Given the description of an element on the screen output the (x, y) to click on. 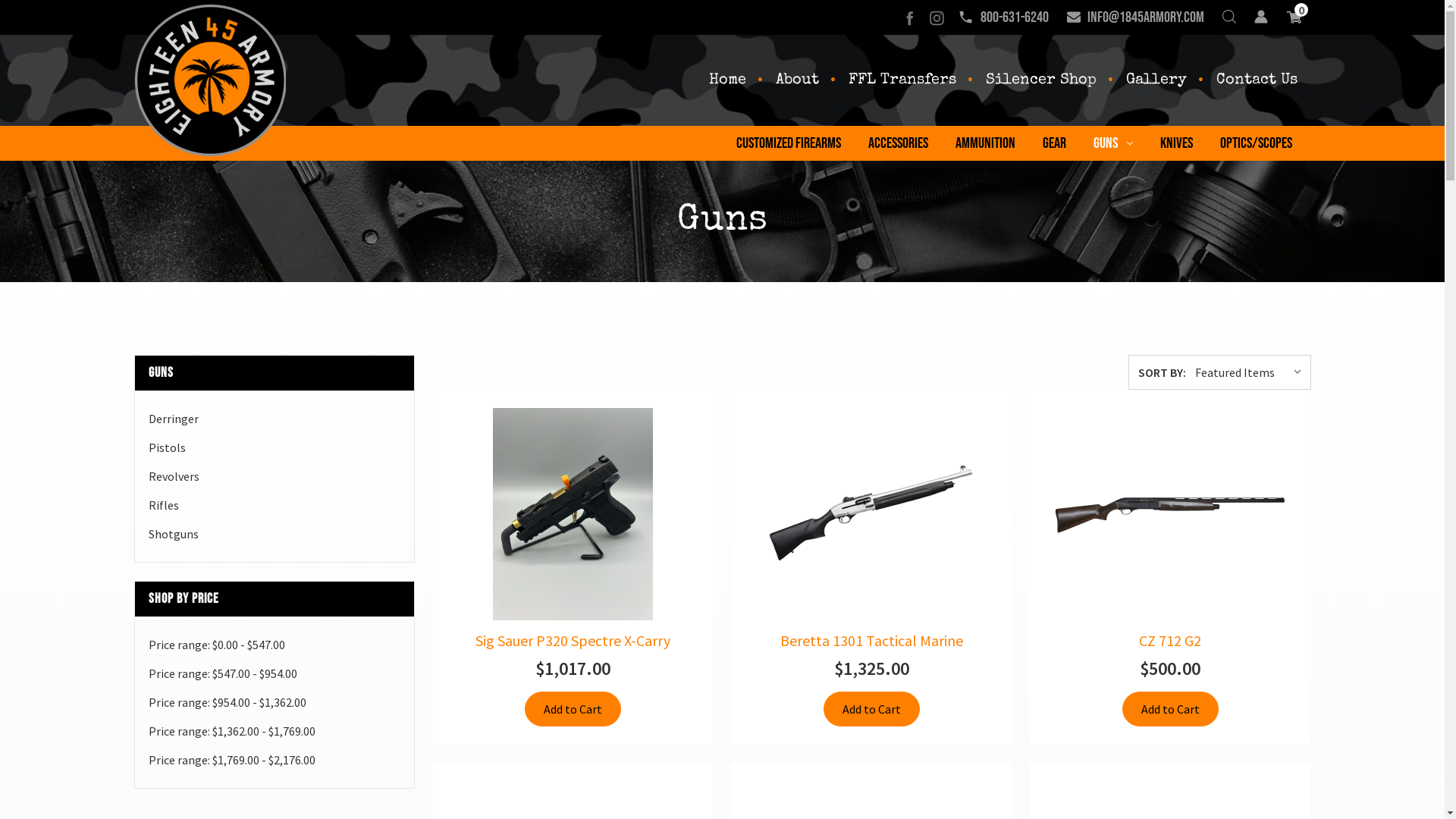
Price range: $0.00 - $547.00 Element type: text (274, 644)
OPTICS/SCOPES Element type: text (1255, 142)
Beretta 1301 Tactical Marine Element type: text (871, 640)
About Element type: text (796, 79)
Price range: $547.00 - $954.00 Element type: text (274, 672)
GEAR Element type: text (1053, 142)
AMMUNITION Element type: text (985, 142)
Sig Sauer P320 Spectre X-Carry Element type: hover (572, 513)
Follow Us On facebook Element type: text (908, 17)
Pistols Element type: text (274, 447)
Derringer Element type: text (274, 418)
800-631-6240 Element type: text (1002, 17)
FFL Transfers Element type: text (901, 79)
GUNS Element type: text (1112, 142)
Silencer Shop Element type: text (1041, 79)
Price range: $954.00 - $1,362.00 Element type: text (274, 701)
Follow Us On instagram Element type: text (936, 17)
Add to Cart Element type: text (572, 708)
Sig Sauer P320 Spectre X-Carry Element type: text (572, 640)
Home Element type: text (726, 79)
Price range: $1,769.00 - $2,176.00 Element type: text (274, 759)
Eighteen 45 Armory Element type: hover (209, 80)
Add to Cart Element type: text (1170, 708)
0 Element type: text (1294, 17)
Contact Us Element type: text (1256, 79)
Gallery Element type: text (1155, 79)
Revolvers Element type: text (274, 475)
Price range: $1,362.00 - $1,769.00 Element type: text (274, 730)
Shotguns Element type: text (274, 533)
KNIVES Element type: text (1176, 142)
Beretta 1301 Tactical Marine Element type: hover (871, 513)
INFO@1845ARMORY.COM Element type: text (1134, 17)
CUSTOMIZED FIREARMS Element type: text (787, 142)
CZ 712 G2 Element type: hover (1170, 514)
CZ 712 G2 Element type: text (1170, 640)
Rifles Element type: text (274, 504)
ACCESSORIES Element type: text (897, 142)
Add to Cart Element type: text (871, 708)
